Given the description of an element on the screen output the (x, y) to click on. 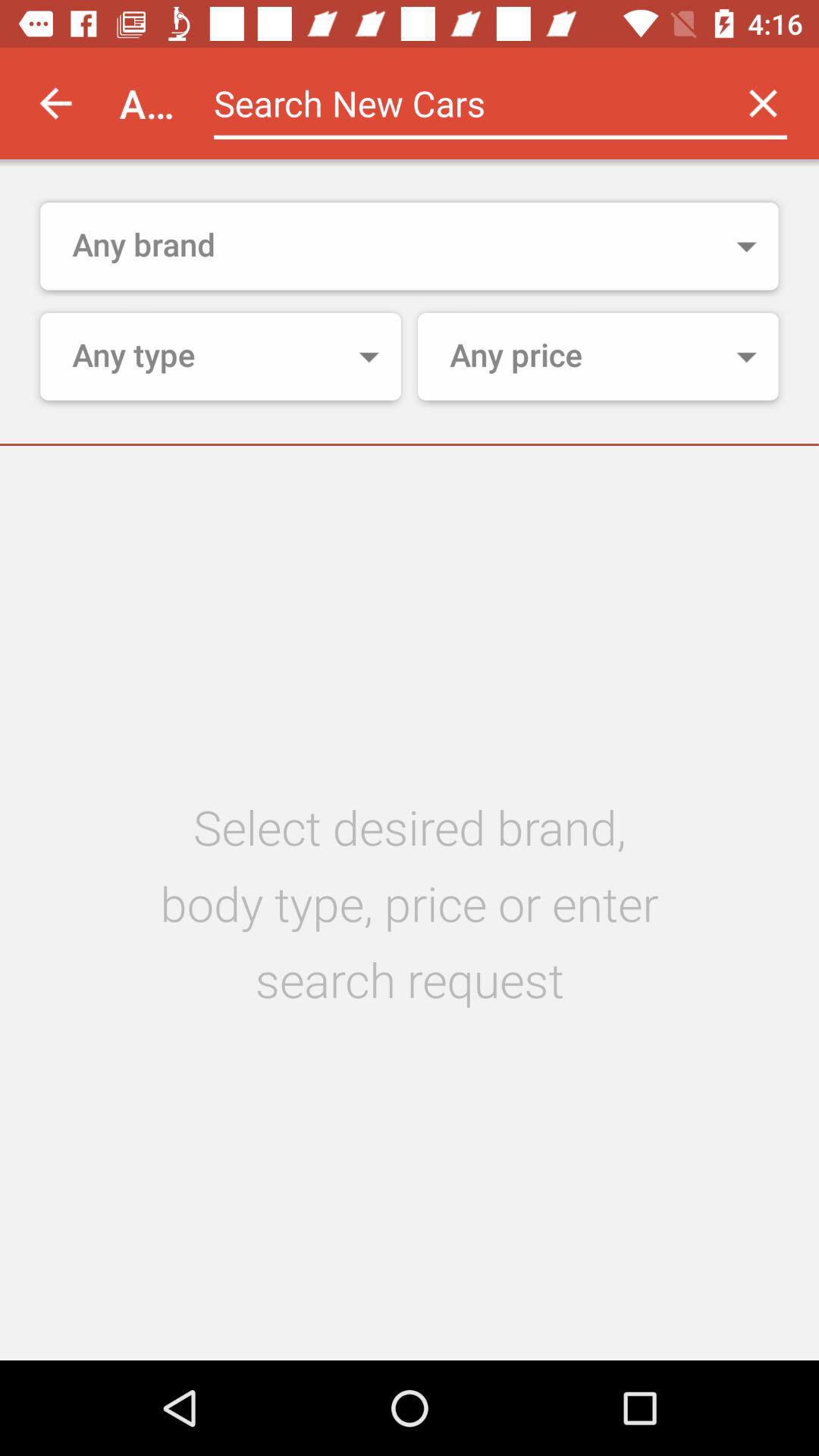
select icon next to the autoportal icon (55, 103)
